Given the description of an element on the screen output the (x, y) to click on. 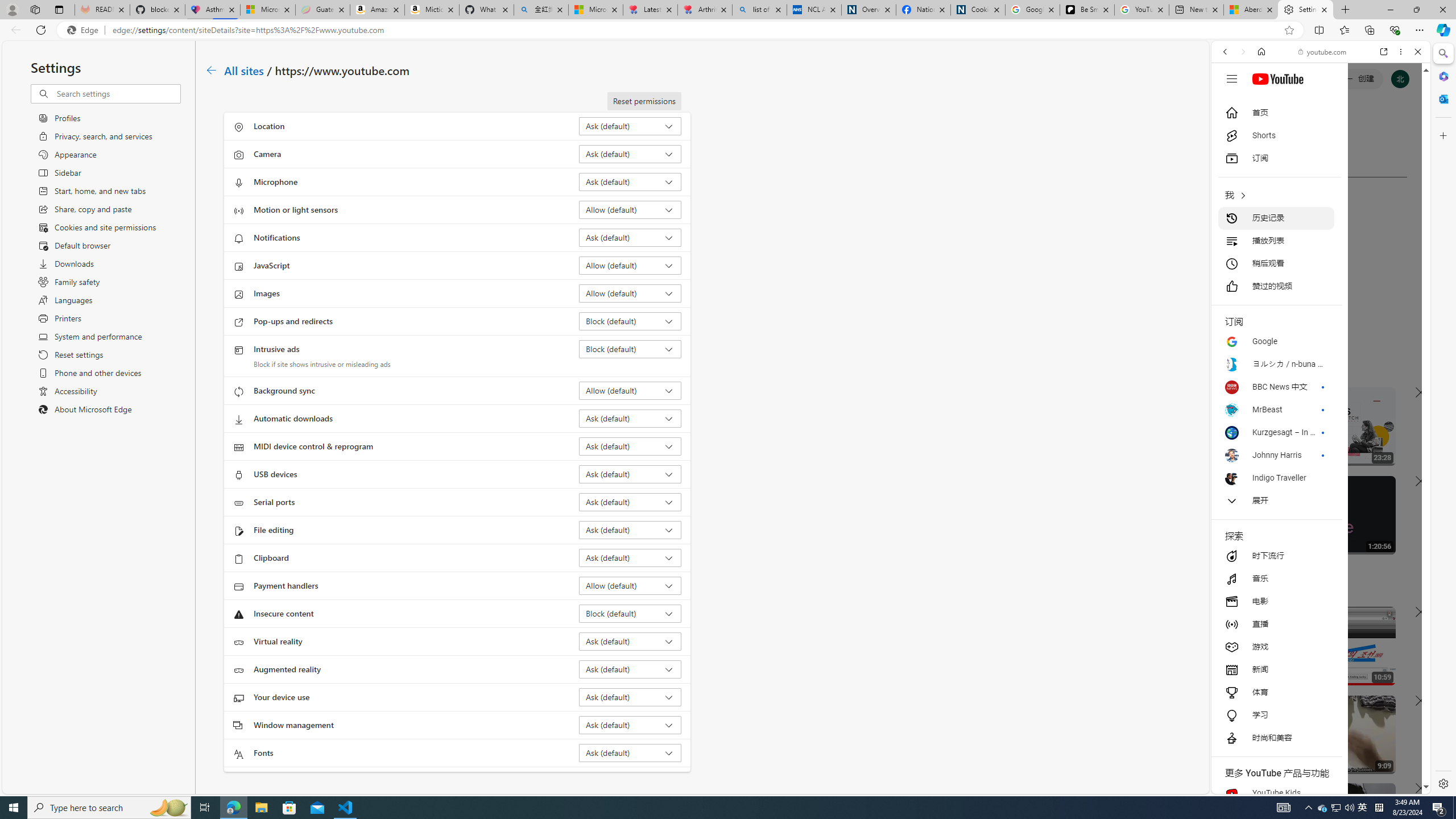
Augmented reality Ask (default) (630, 669)
MIDI device control & reprogram Ask (default) (630, 446)
Class: dict_pnIcon rms_img (1312, 784)
